Given the description of an element on the screen output the (x, y) to click on. 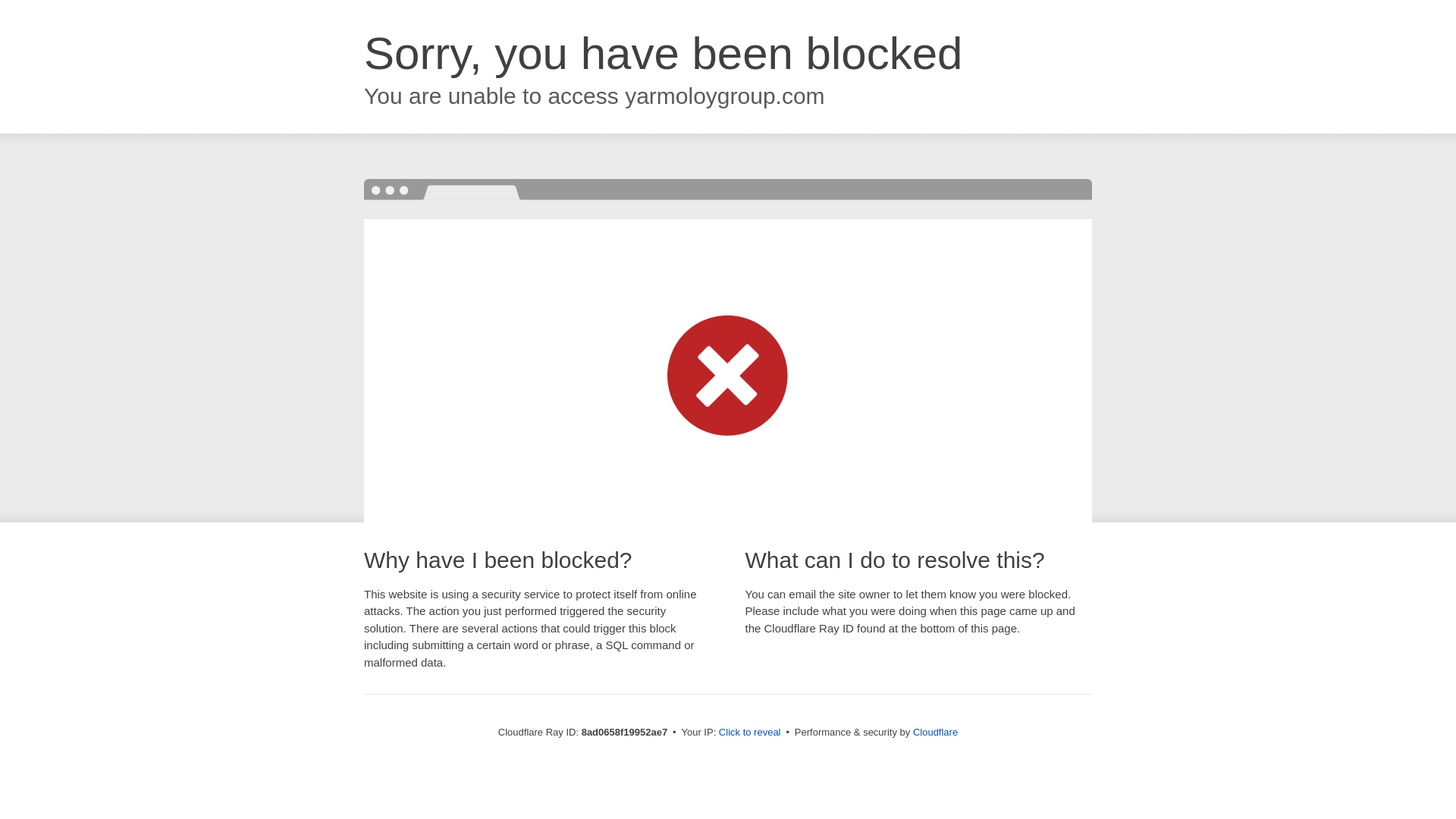
Click to reveal (749, 732)
Cloudflare (935, 731)
